Given the description of an element on the screen output the (x, y) to click on. 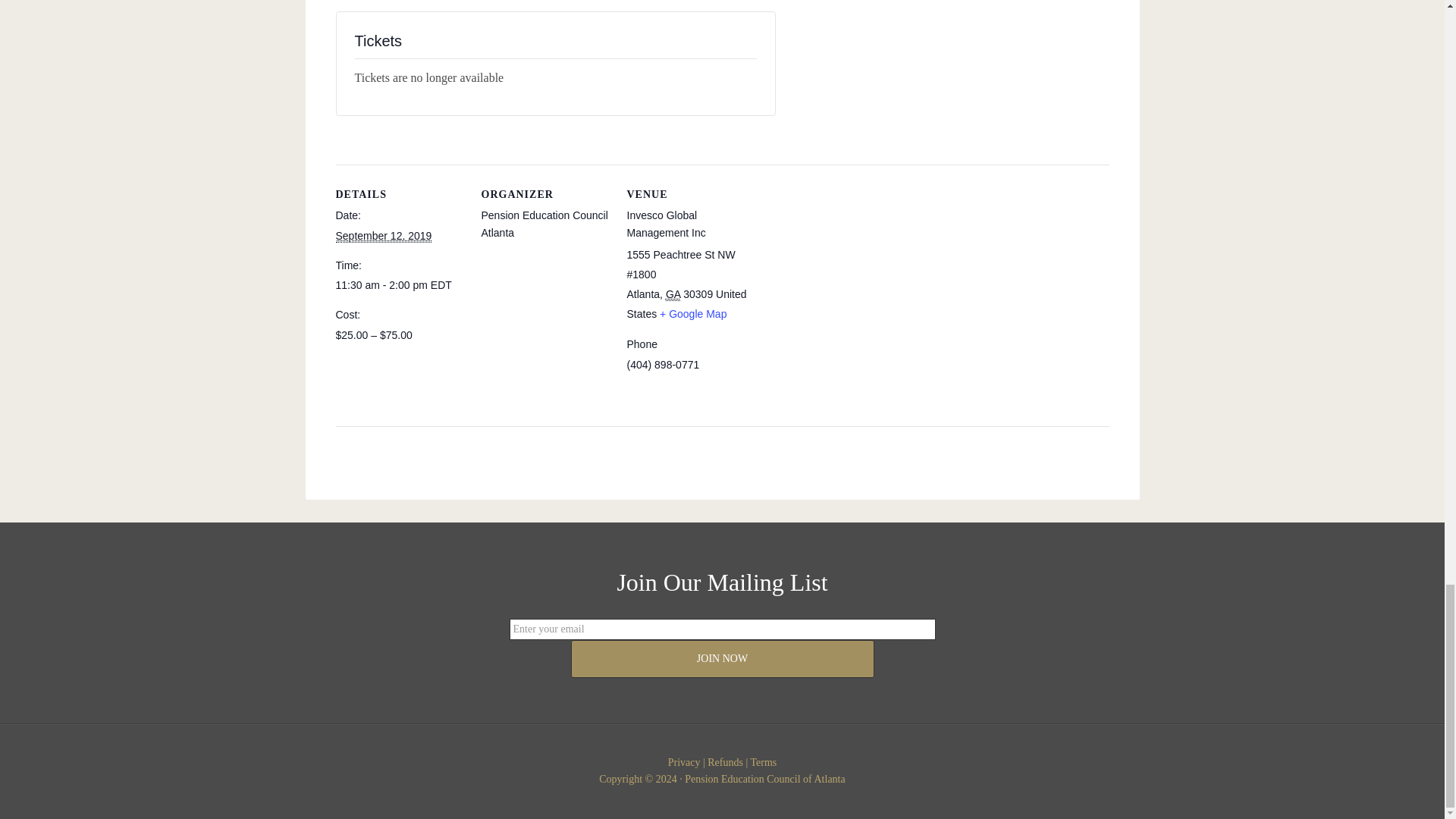
Join Now (721, 658)
Georgia (672, 294)
2019-09-12 (398, 285)
2019-09-12 (382, 236)
Enter your email (722, 629)
Click to view a Google Map (692, 313)
